Given the description of an element on the screen output the (x, y) to click on. 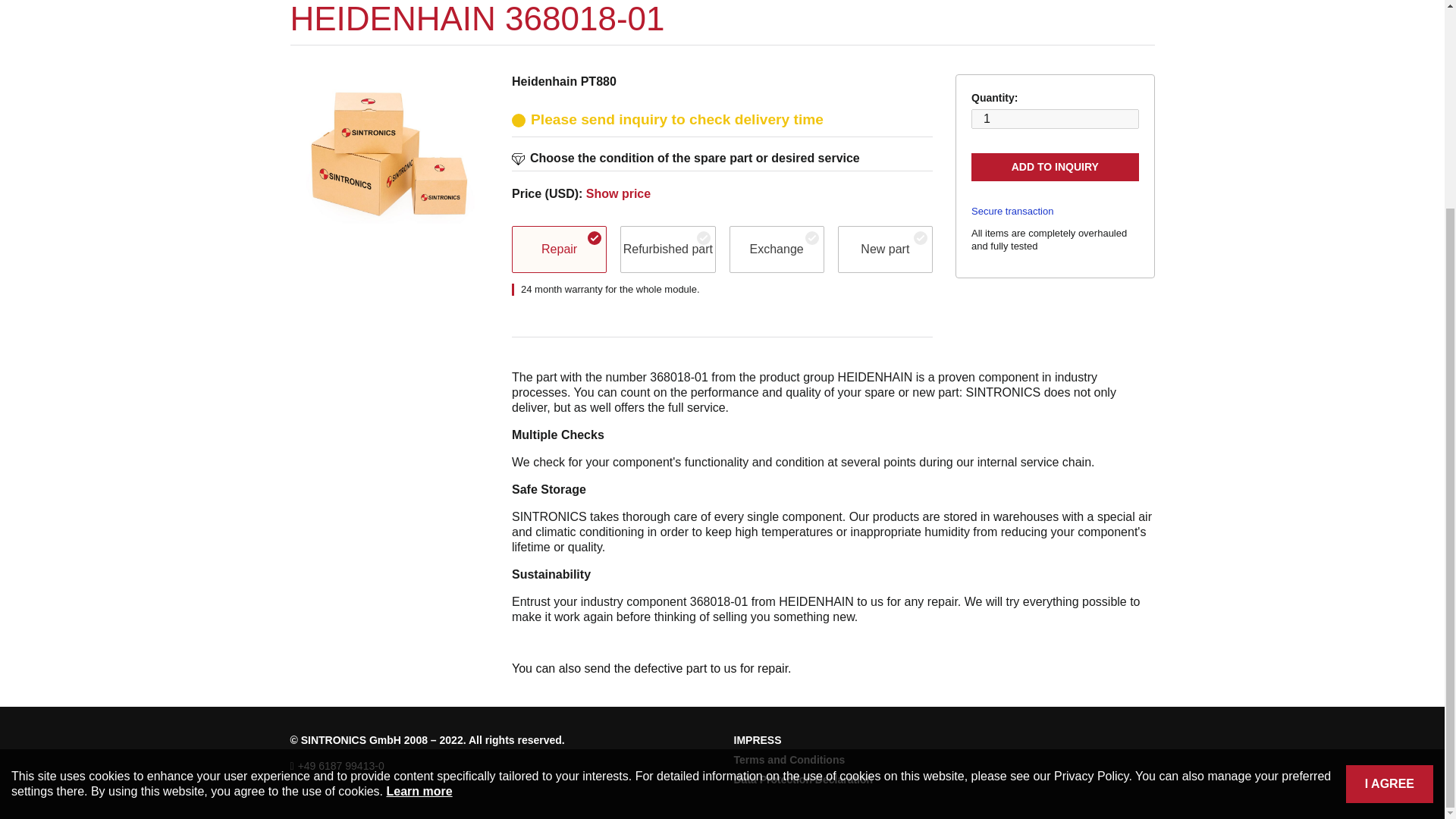
1 (1054, 118)
Add to inquiry (1054, 167)
Add to inquiry (1054, 167)
Show price (618, 193)
